Given the description of an element on the screen output the (x, y) to click on. 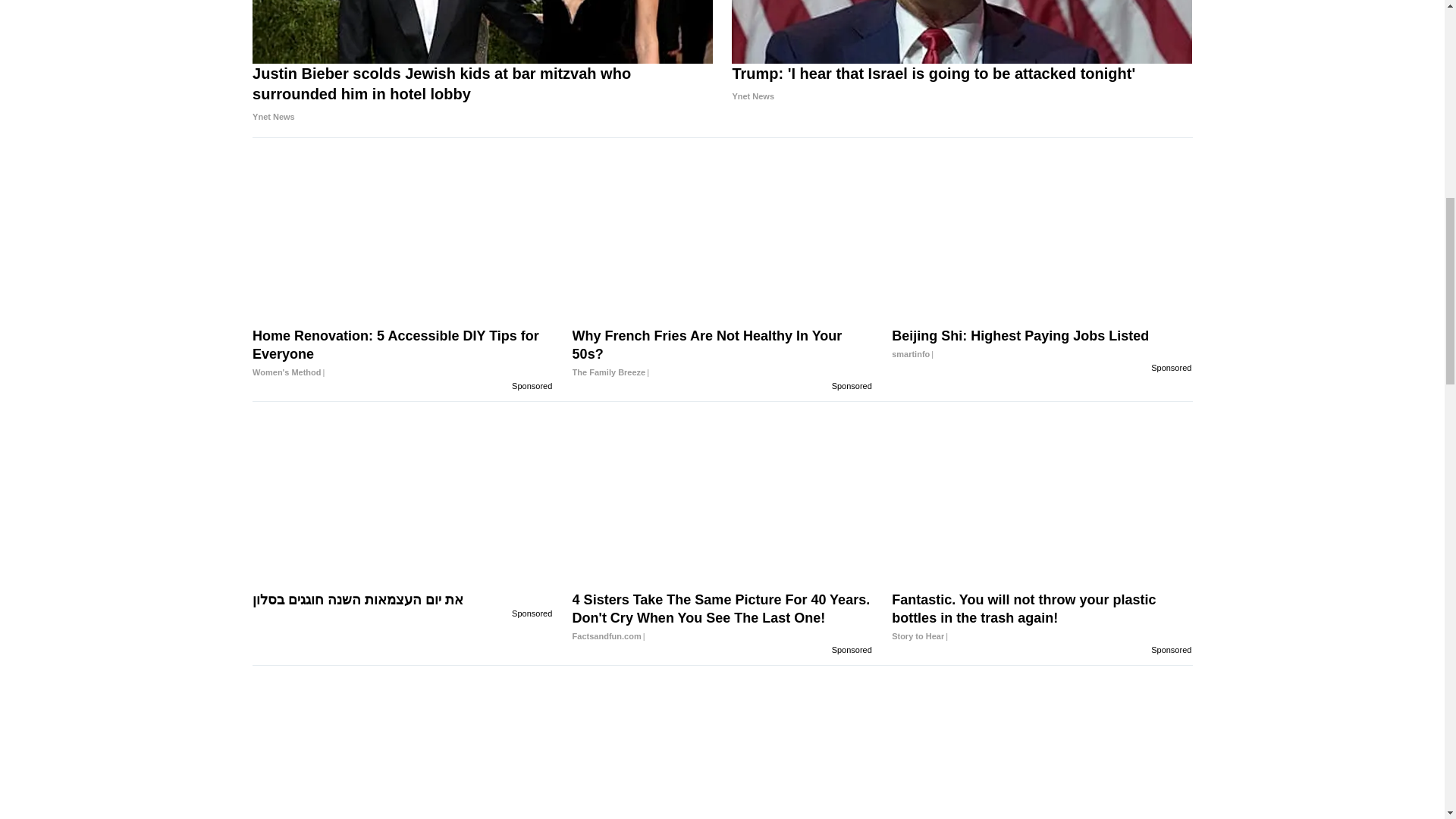
Why French Fries Are Not Healthy In Your 50s? (722, 353)
Home Renovation: 5 Accessible DIY Tips for Everyone (402, 353)
Trump: 'I hear that Israel is going to be attacked tonight' (962, 85)
Beijing Shi: Highest Paying Jobs Listed (1041, 344)
